Given the description of an element on the screen output the (x, y) to click on. 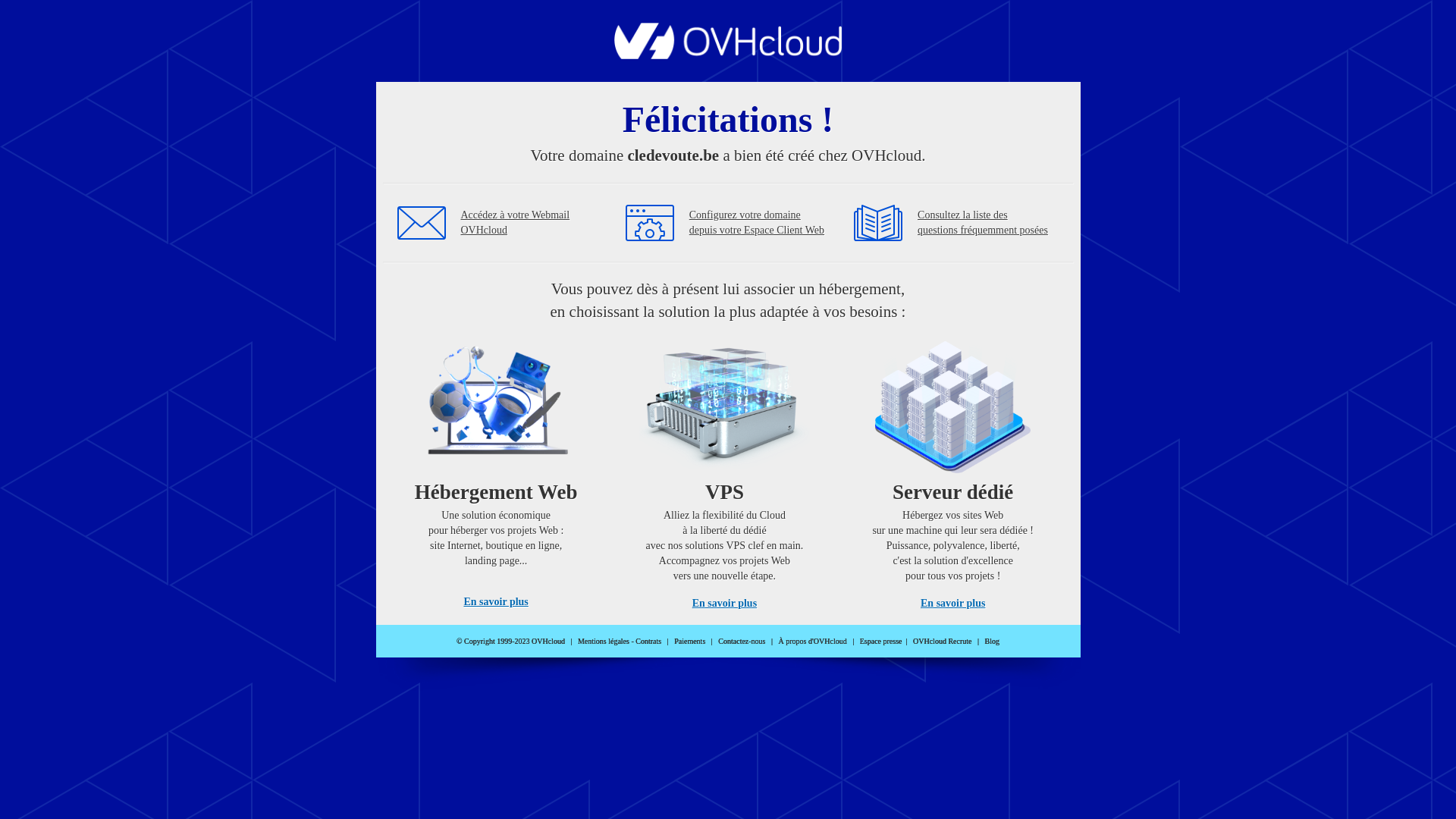
En savoir plus Element type: text (724, 602)
OVHcloud Recrute Element type: text (942, 641)
OVHcloud Element type: hover (727, 54)
Blog Element type: text (992, 641)
Espace presse Element type: text (880, 641)
VPS Element type: hover (724, 469)
En savoir plus Element type: text (952, 602)
En savoir plus Element type: text (495, 601)
Paiements Element type: text (689, 641)
Configurez votre domaine
depuis votre Espace Client Web Element type: text (756, 222)
Contactez-nous Element type: text (741, 641)
